Given the description of an element on the screen output the (x, y) to click on. 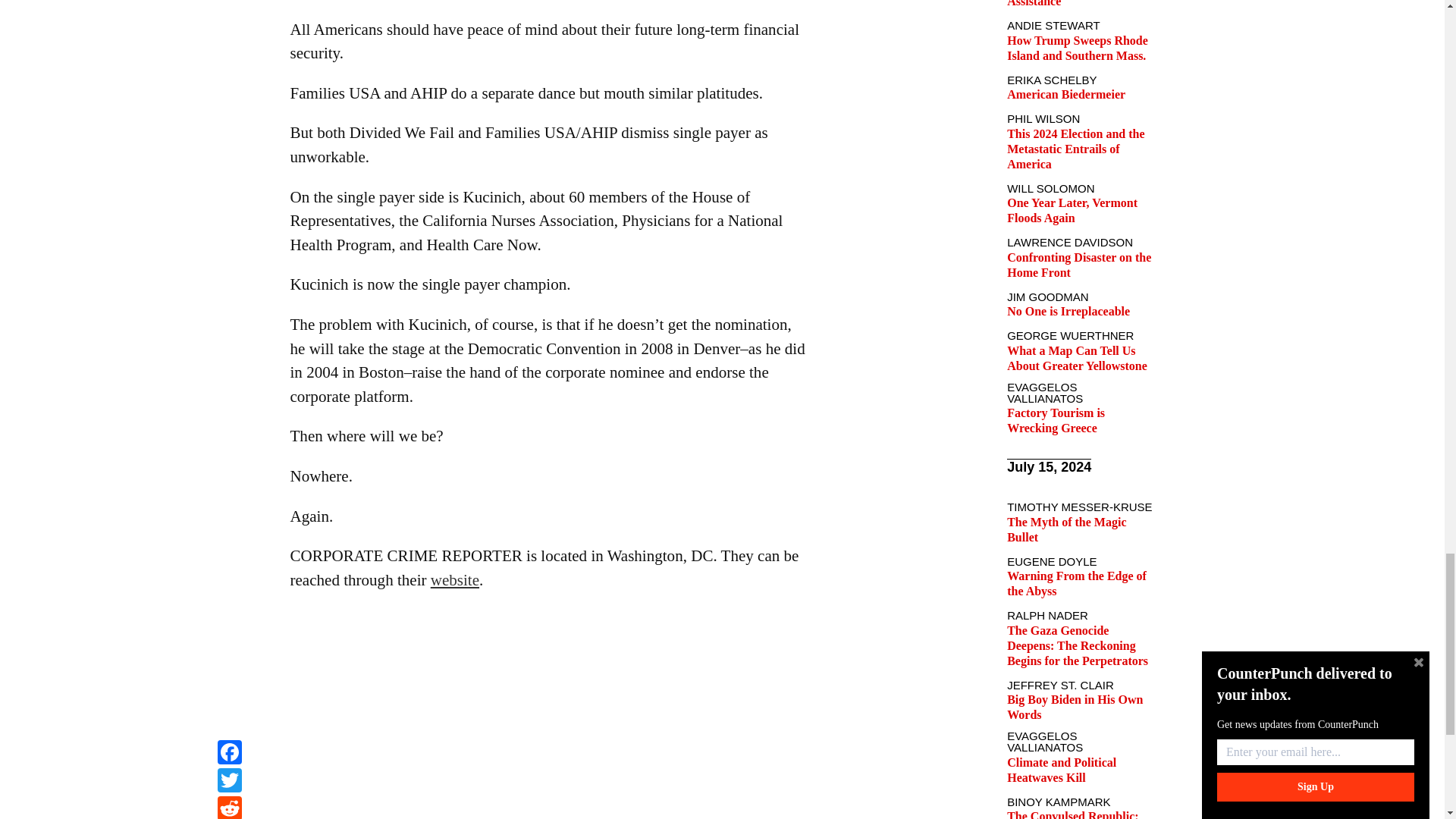
website (454, 579)
